Given the description of an element on the screen output the (x, y) to click on. 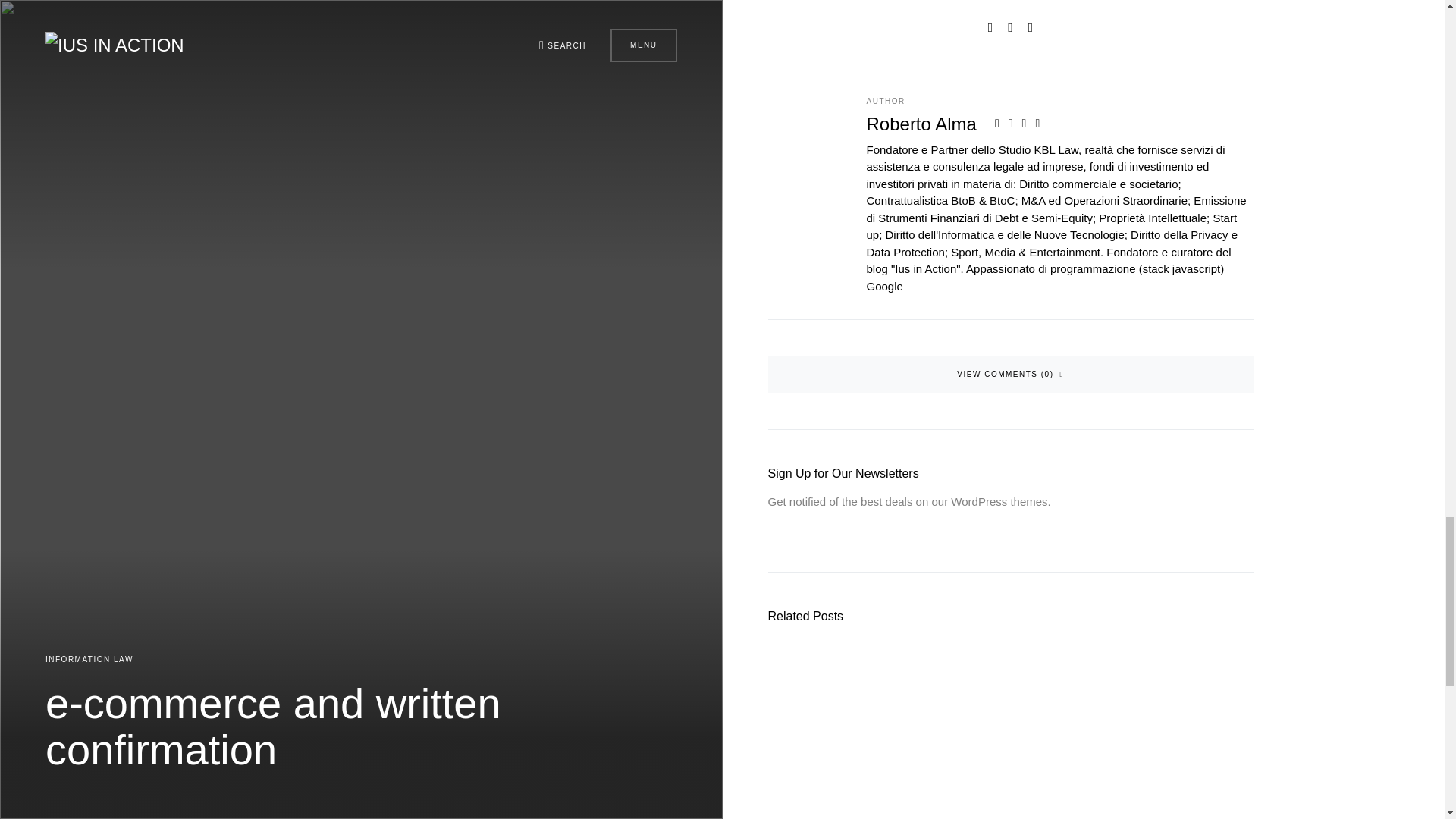
Roberto Alma (920, 123)
Google (884, 286)
